Given the description of an element on the screen output the (x, y) to click on. 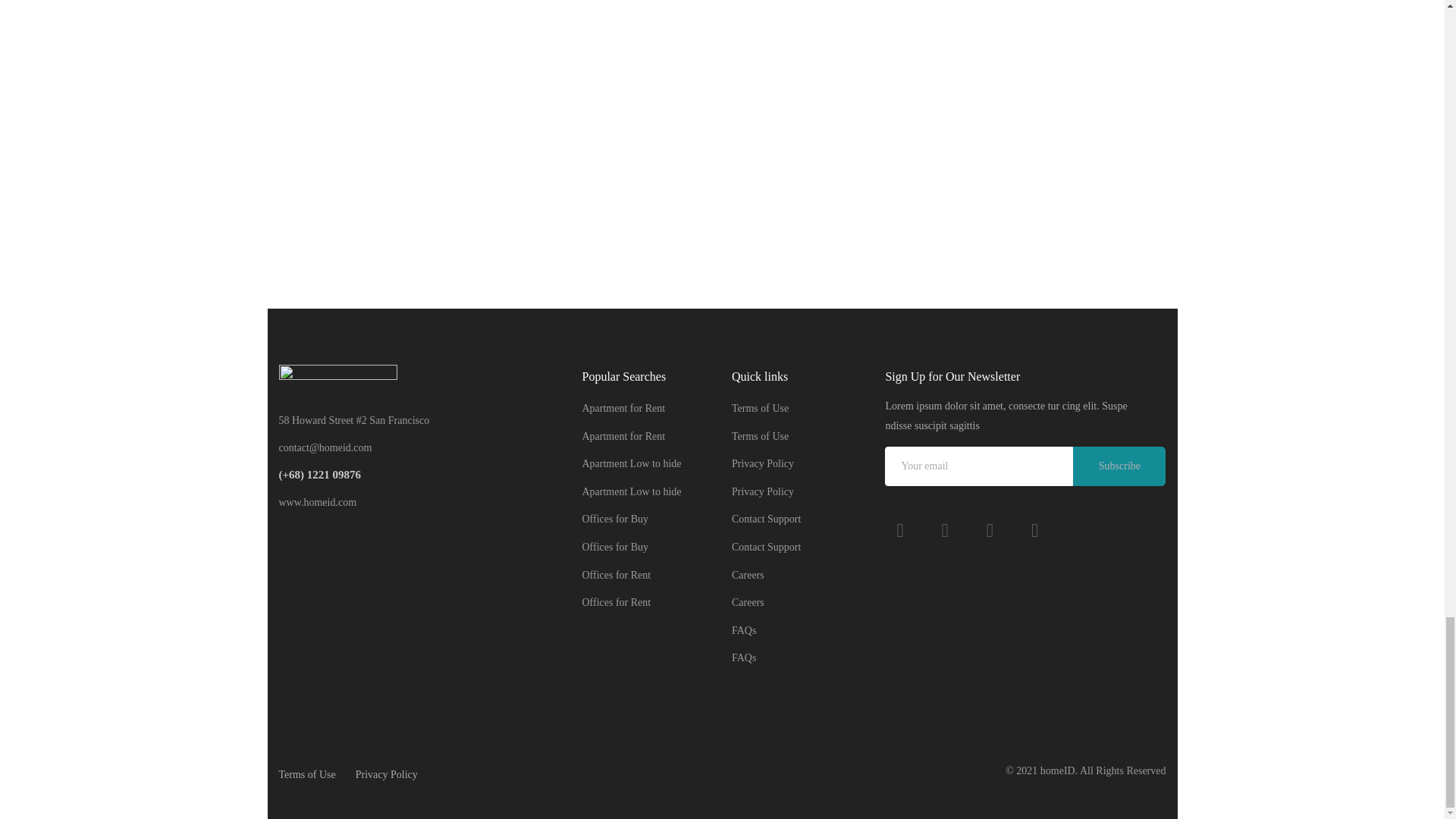
Subscribe (1119, 466)
